Given the description of an element on the screen output the (x, y) to click on. 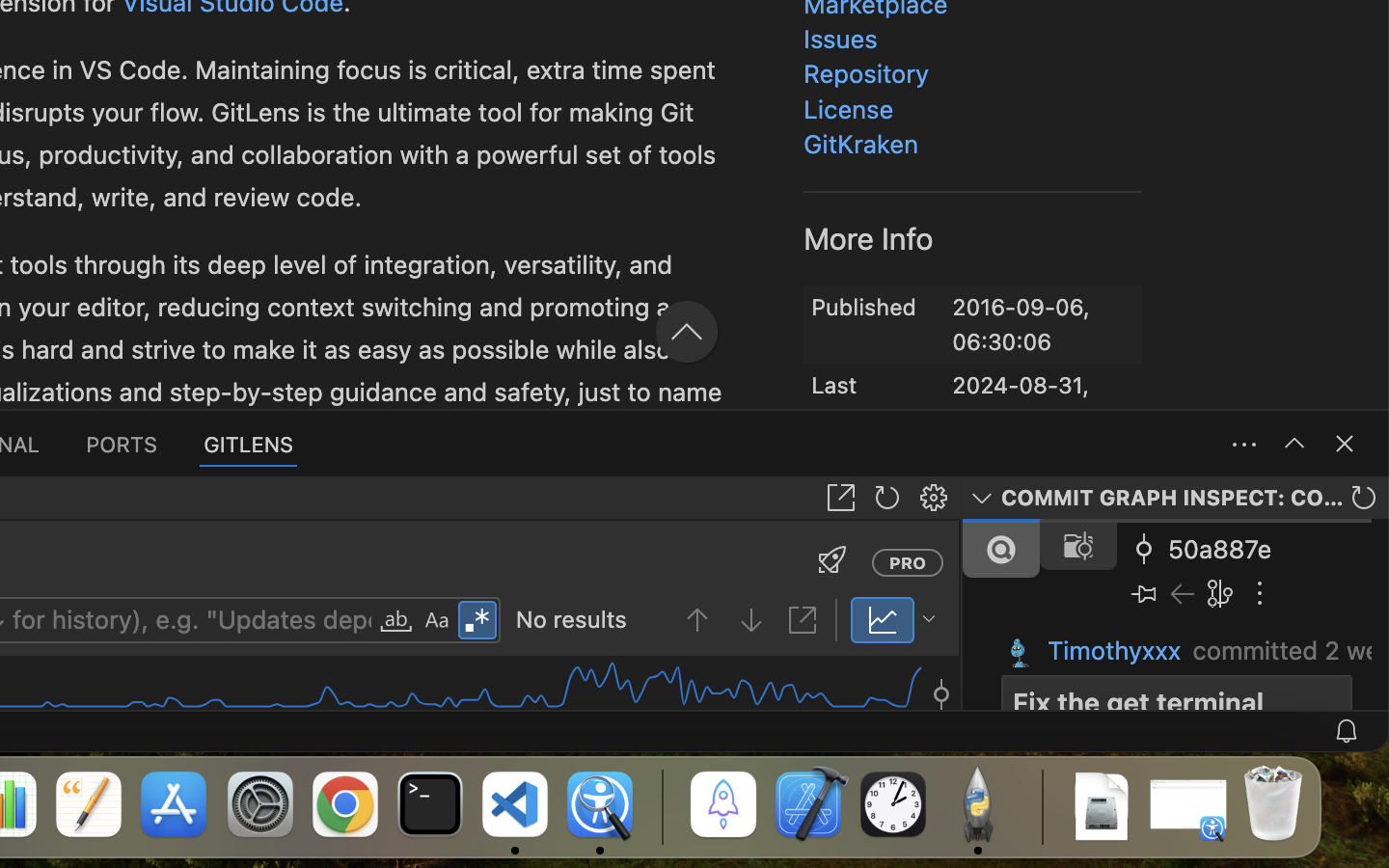
ACTIVITY BAR Element type: AXStaticText (771, 117)
Inspect Element type: AXStaticText (799, 209)
 Element type: AXStaticText (717, 161)
 Element type: AXCheckBox (1294, 443)
Commits Element type: AXStaticText (806, 375)
